Given the description of an element on the screen output the (x, y) to click on. 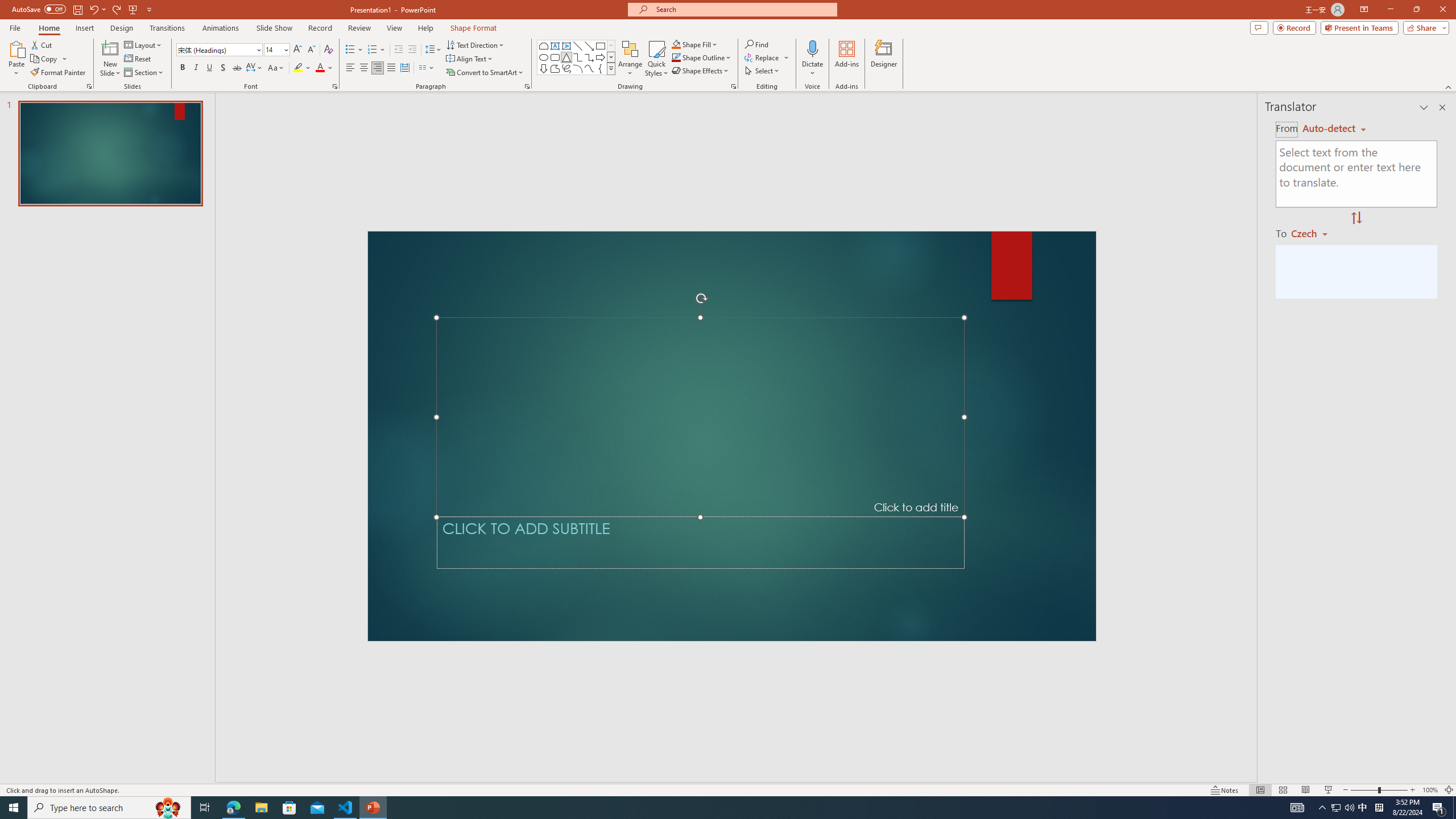
Zoom 100% (1430, 790)
